Given the description of an element on the screen output the (x, y) to click on. 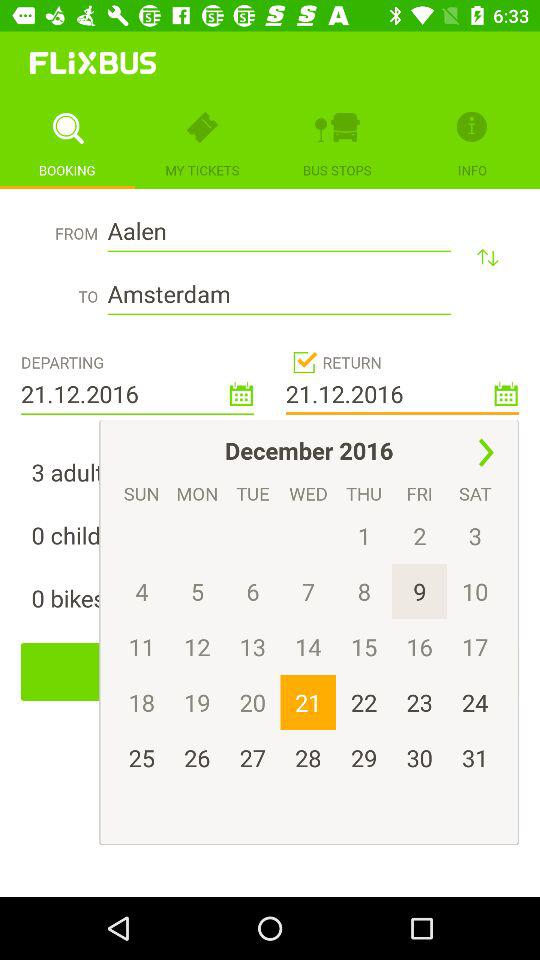
move to next month (485, 452)
